Given the description of an element on the screen output the (x, y) to click on. 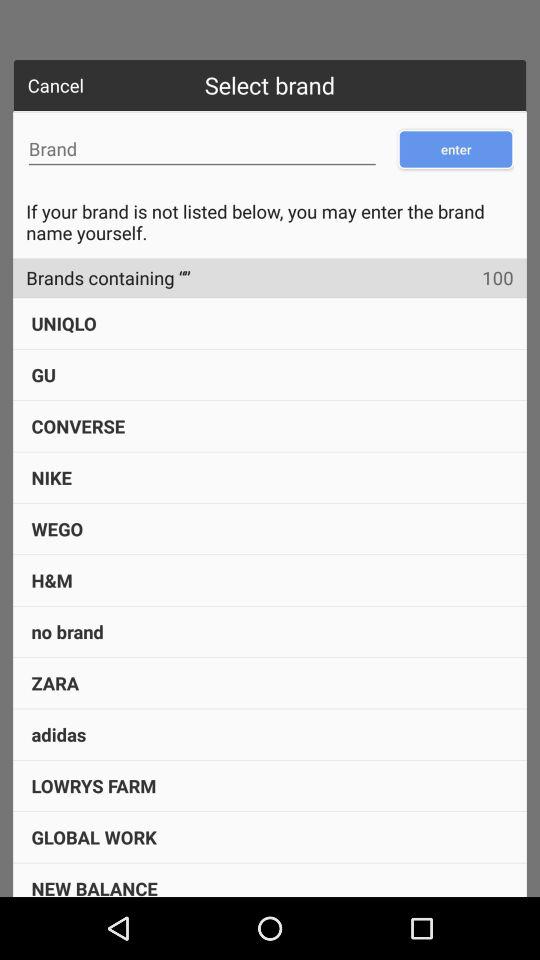
turn on the item above nike icon (78, 426)
